Given the description of an element on the screen output the (x, y) to click on. 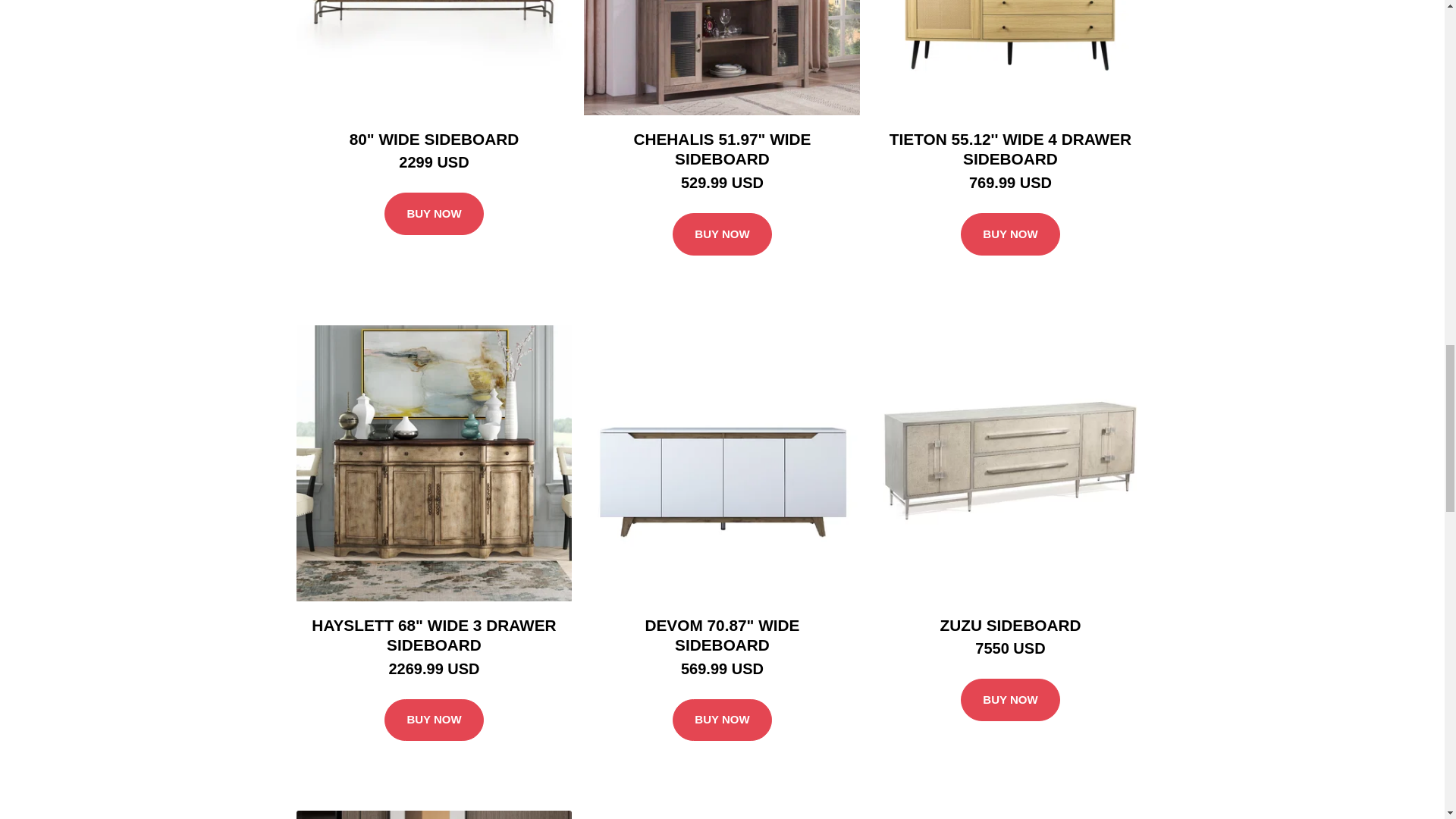
DEVOM 70.87" WIDE SIDEBOARD (722, 634)
TIETON 55.12'' WIDE 4 DRAWER SIDEBOARD (1010, 149)
BUY NOW (721, 233)
CHEHALIS 51.97" WIDE SIDEBOARD (721, 149)
HAYSLETT 68" WIDE 3 DRAWER SIDEBOARD (433, 634)
BUY NOW (433, 720)
BUY NOW (721, 720)
BUY NOW (433, 213)
80" WIDE SIDEBOARD (434, 139)
BUY NOW (1009, 233)
